Given the description of an element on the screen output the (x, y) to click on. 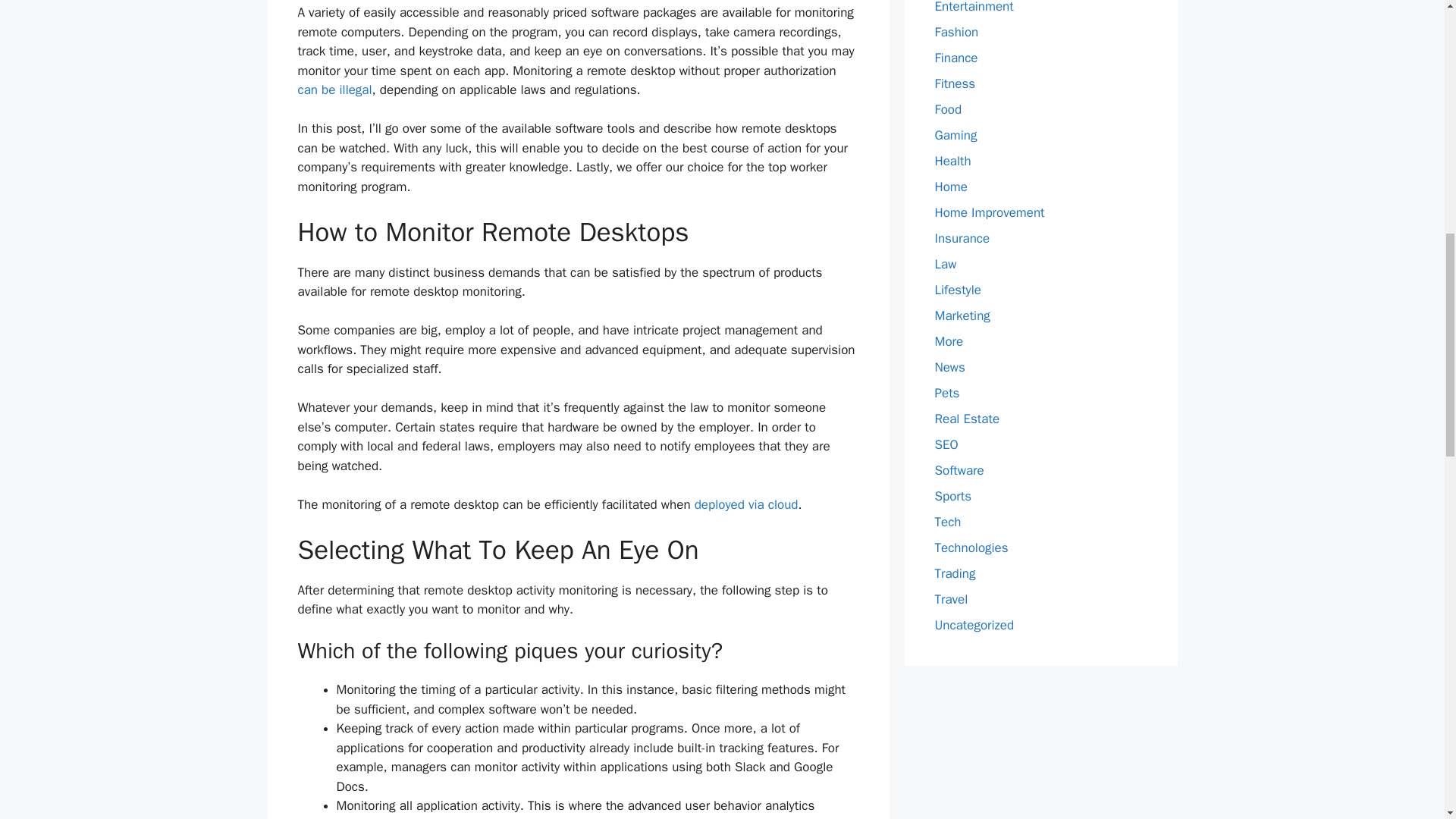
can be illegal (334, 89)
deployed via cloud (745, 504)
